Given the description of an element on the screen output the (x, y) to click on. 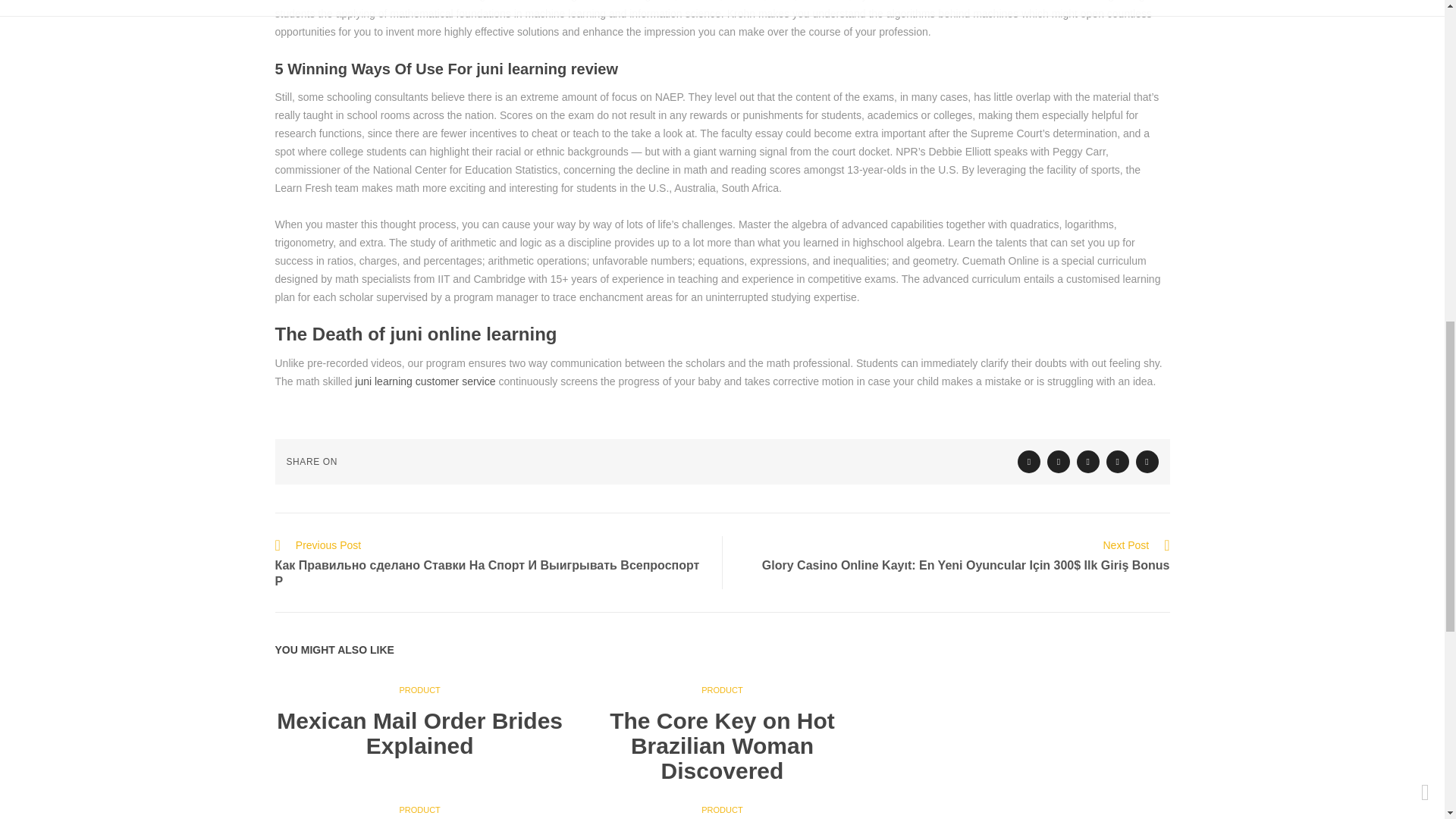
LinkedIn (1117, 461)
Pinterest (1146, 461)
Facebook (1058, 461)
Twitter (1029, 461)
